Given the description of an element on the screen output the (x, y) to click on. 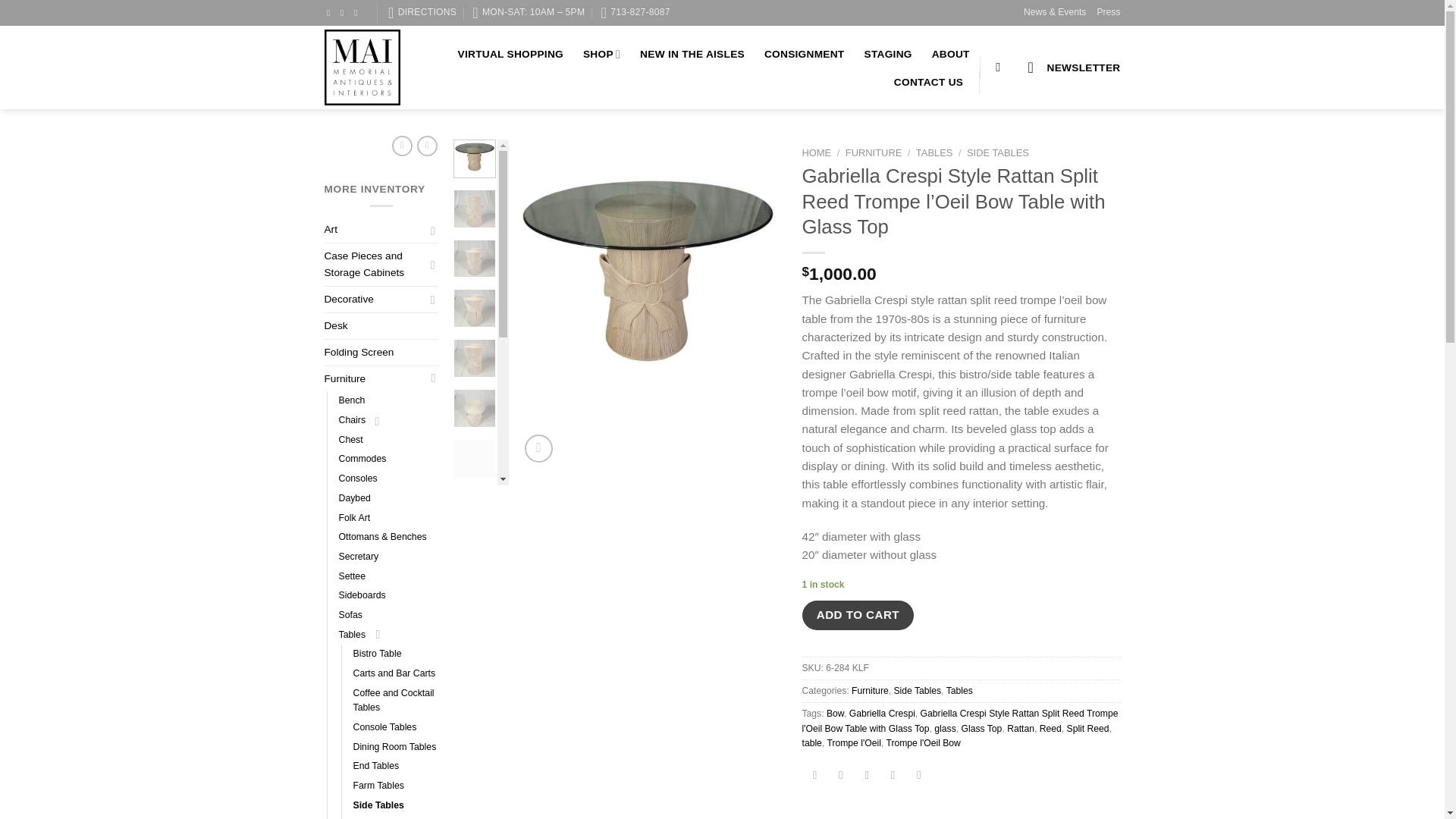
Sign up for Newsletter (1074, 67)
713-827-8087 (635, 12)
ABOUT (950, 53)
STAGING (888, 53)
713-827-8087 (635, 12)
CONSIGNMENT (804, 53)
VIRTUAL SHOPPING (510, 53)
Follow on Facebook (330, 12)
Follow on Instagram (344, 12)
Follow on Pinterest (357, 12)
NEWSLETTER (1074, 67)
CONTACT US (927, 81)
NEW IN THE AISLES (692, 53)
SHOP (601, 53)
DIRECTIONS (422, 12)
